Given the description of an element on the screen output the (x, y) to click on. 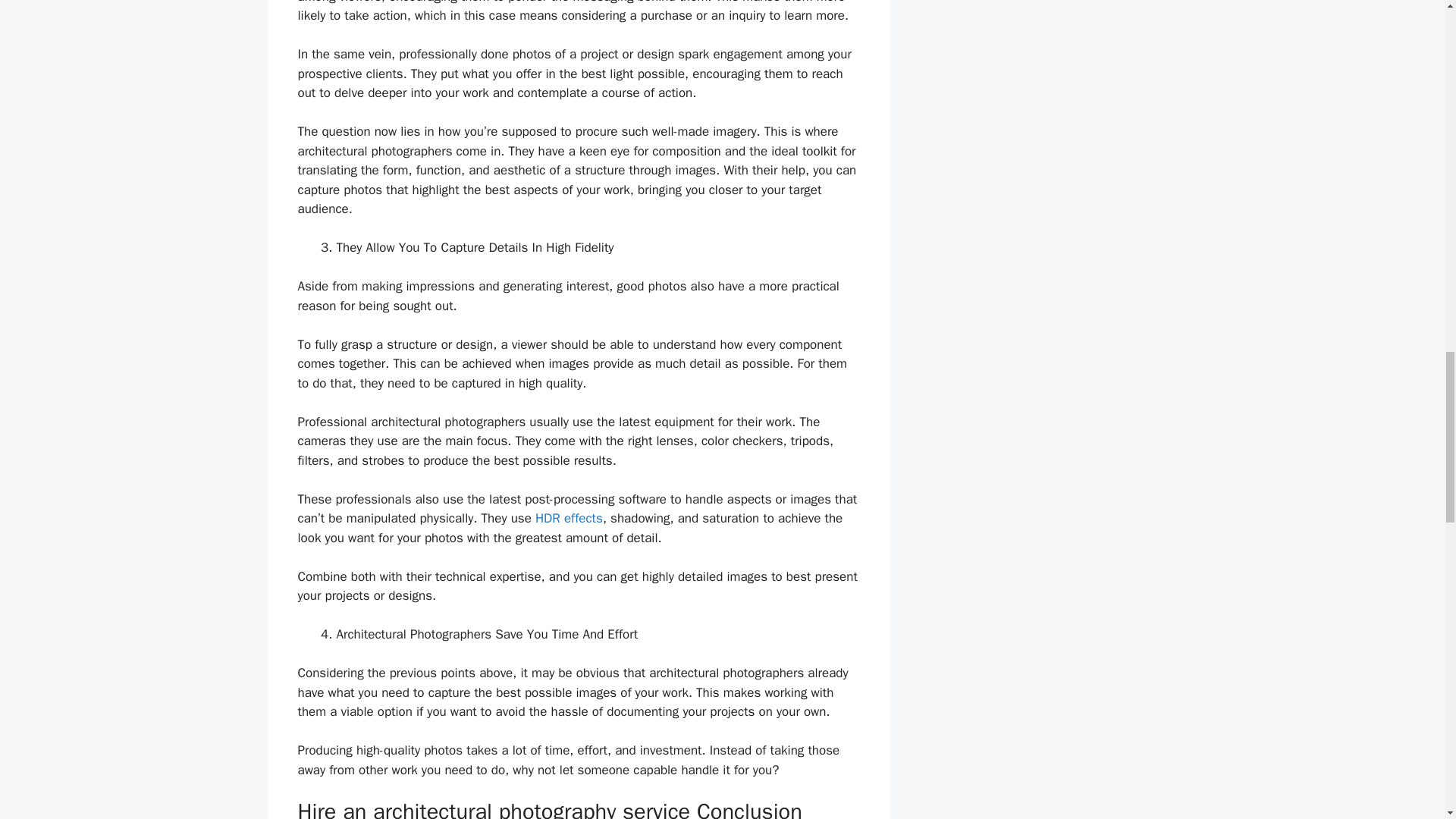
HDR effects (568, 518)
